Given the description of an element on the screen output the (x, y) to click on. 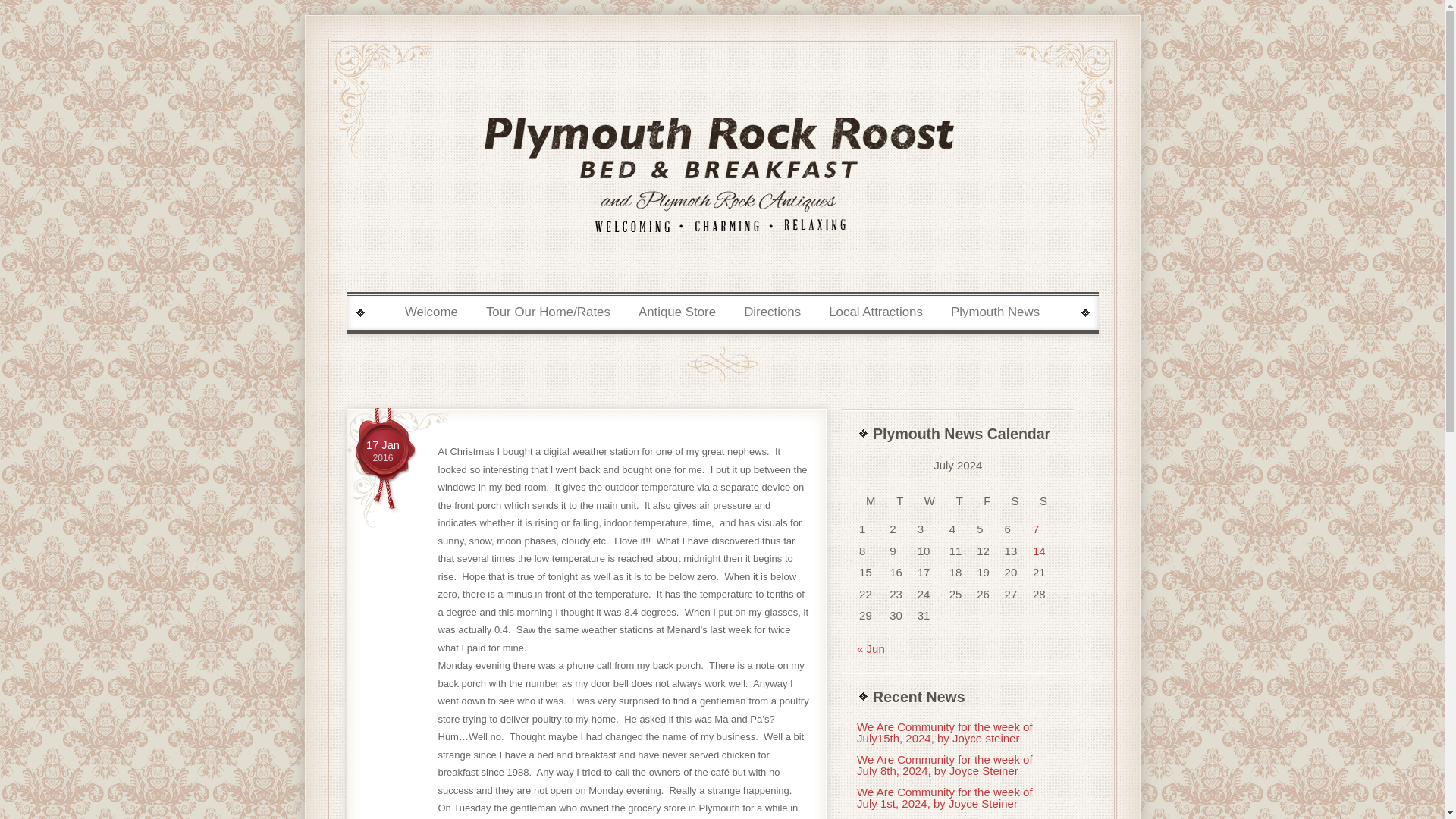
Plymouth News (995, 312)
Local Attractions (875, 312)
Directions (382, 451)
Antique Store (772, 312)
7:37 pm (677, 312)
Wednesday (382, 451)
Welcome (931, 501)
